Given the description of an element on the screen output the (x, y) to click on. 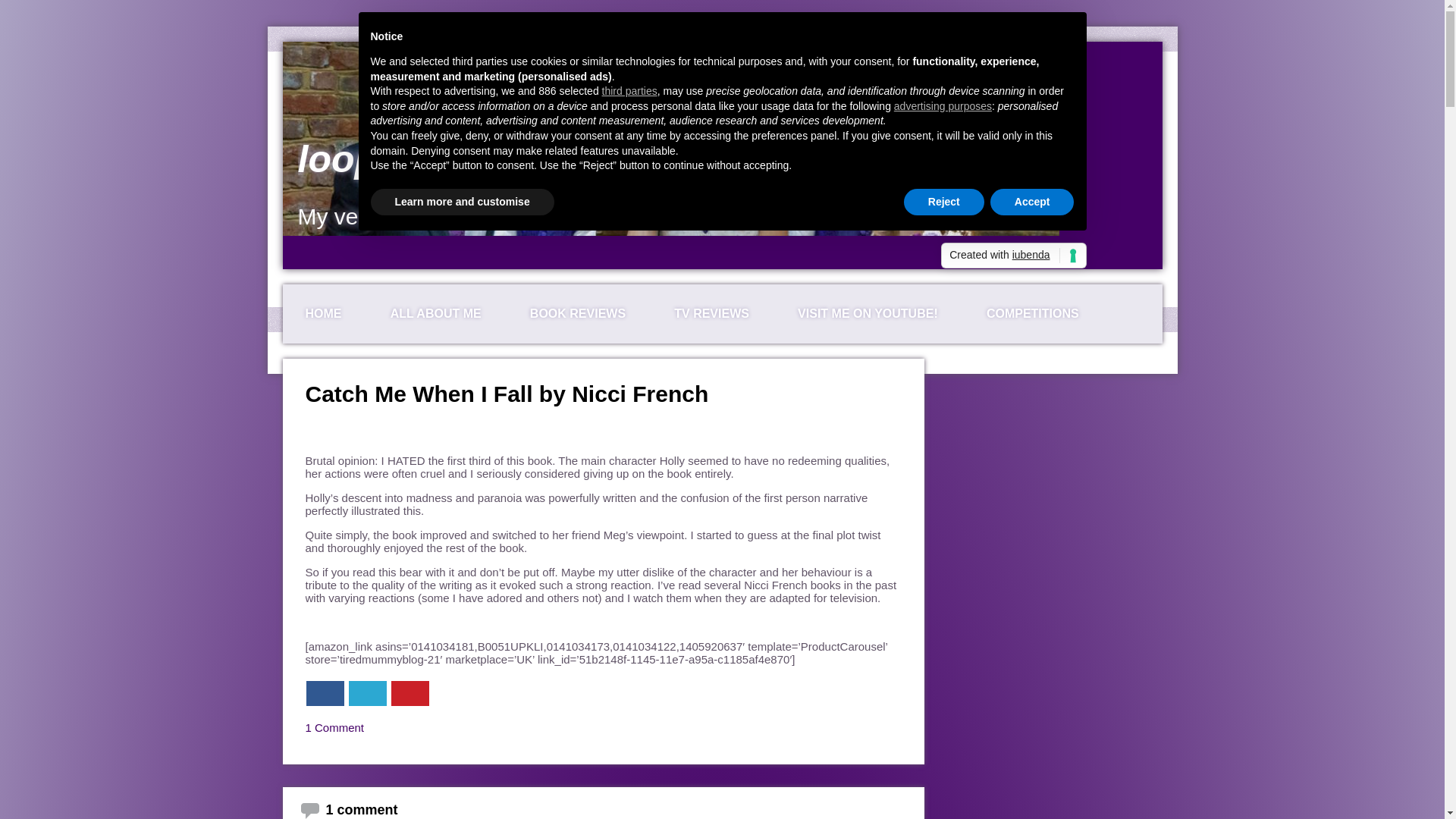
Share On Pinterest (410, 692)
Share On Facebook (324, 692)
iubenda - Cookie Policy and Cookie Compliance Management (1013, 255)
Catch Me When I Fall by Nicci French (505, 393)
1 Comment (334, 727)
ALL ABOUT ME (435, 313)
loopyloulaura (421, 159)
VISIT ME ON YOUTUBE! (867, 313)
HOME (323, 313)
loopyloulaura (421, 159)
